Given the description of an element on the screen output the (x, y) to click on. 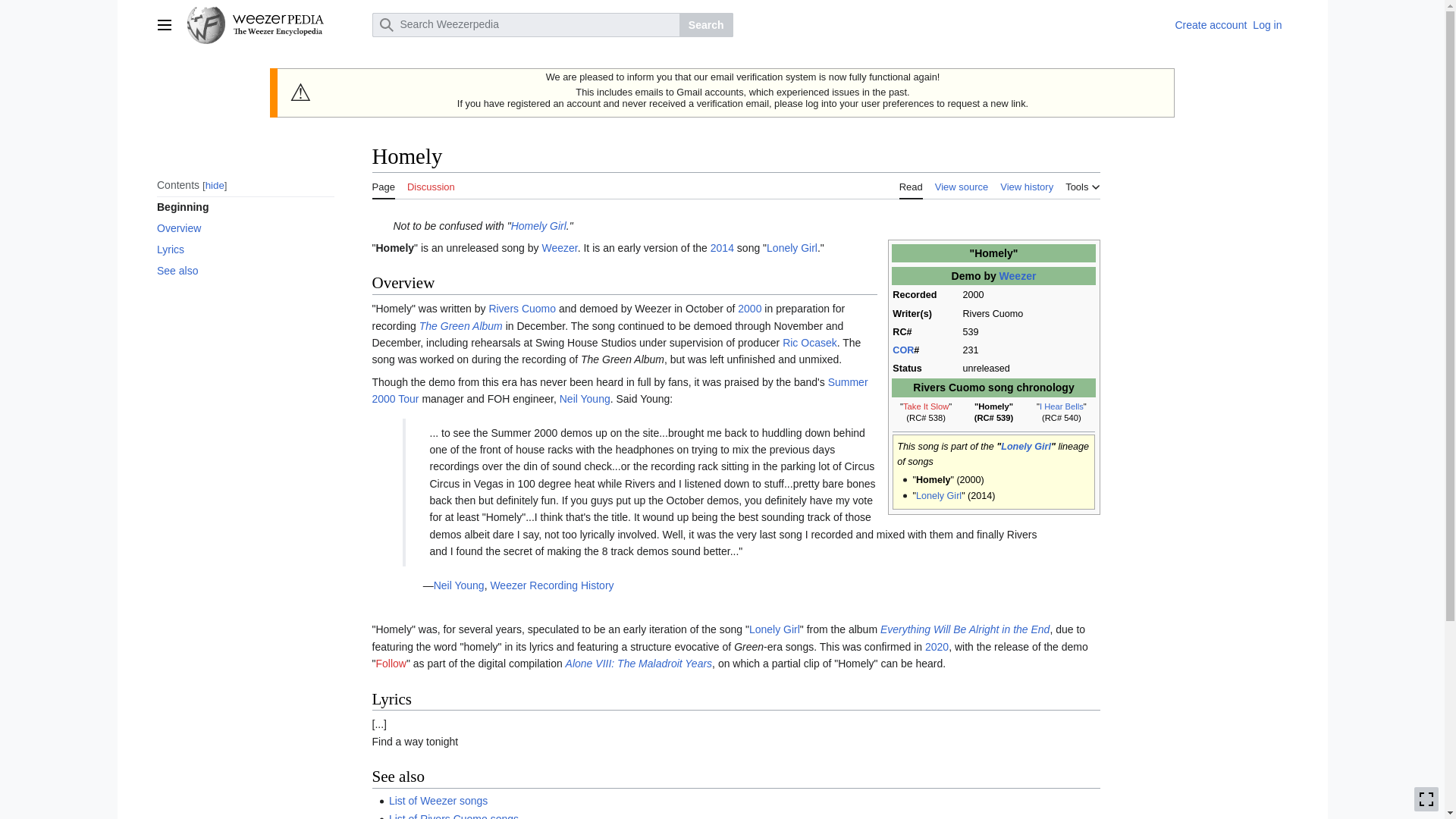
Overview (244, 228)
Create account (1210, 24)
Discussion (430, 184)
Beginning (244, 206)
See also (244, 270)
Search (706, 24)
hide (214, 184)
Lyrics (244, 249)
Log in (1266, 24)
